Given the description of an element on the screen output the (x, y) to click on. 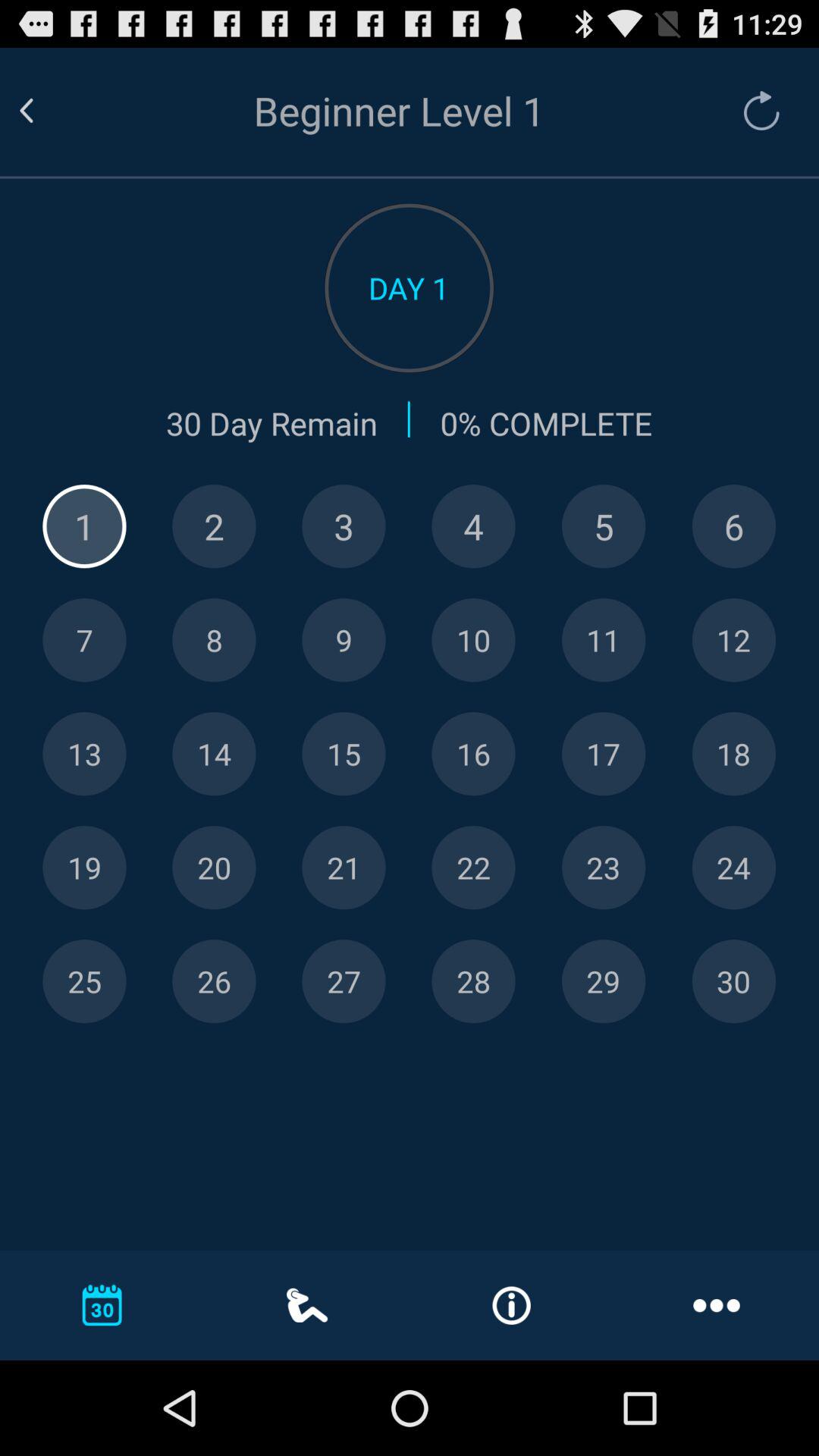
go to keyboard (733, 753)
